Given the description of an element on the screen output the (x, y) to click on. 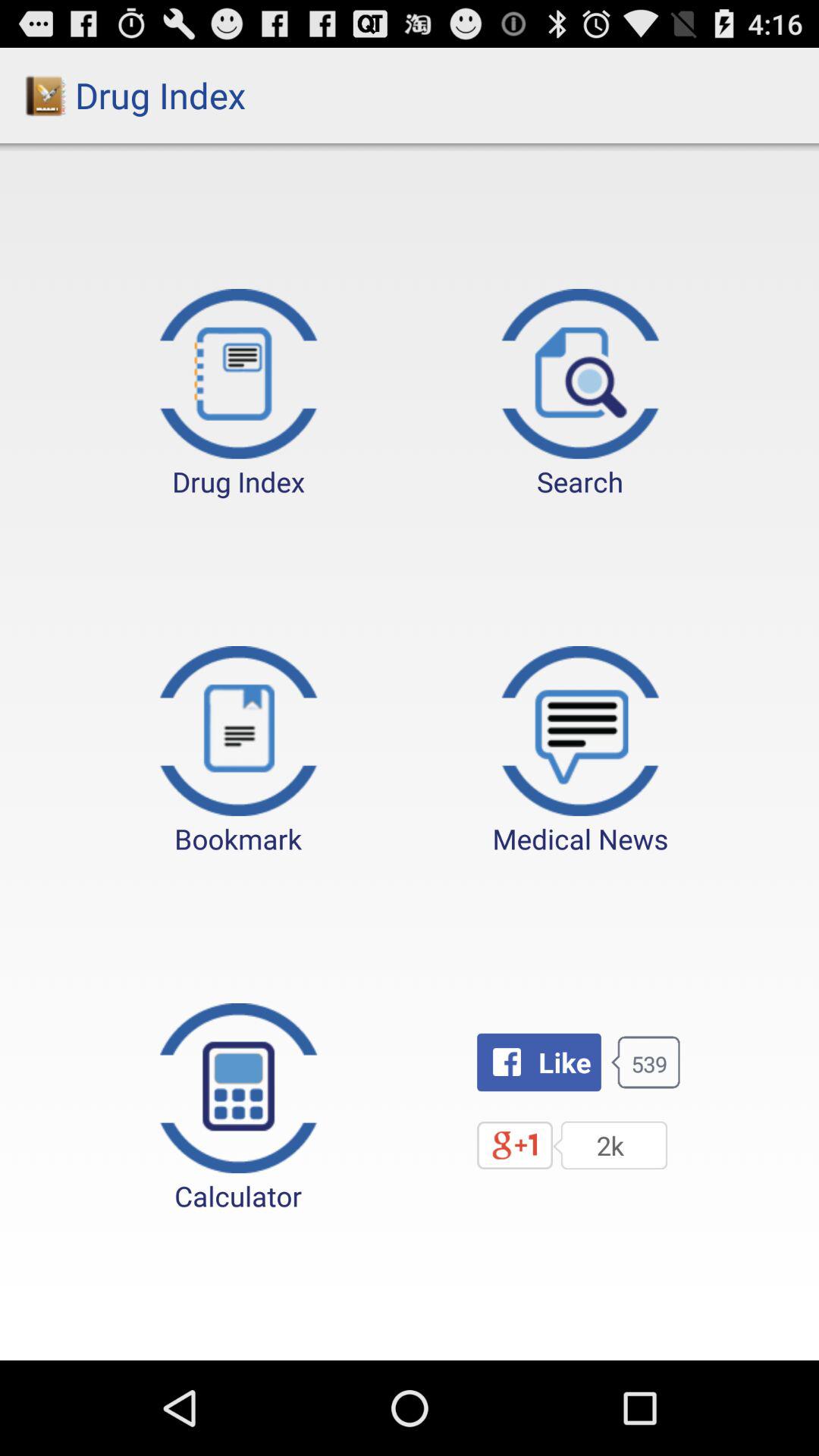
press the button next to calculator (539, 1062)
